Given the description of an element on the screen output the (x, y) to click on. 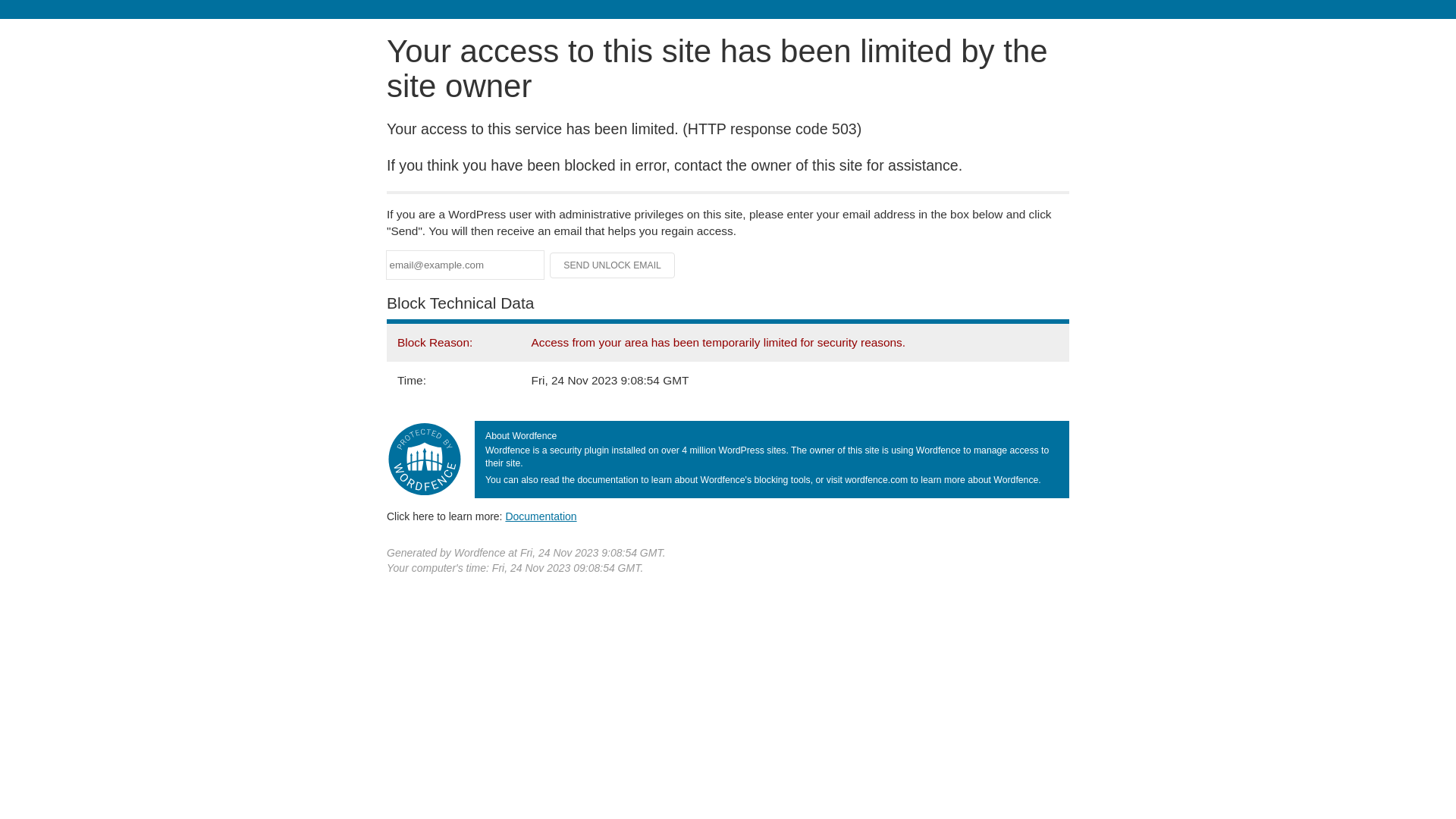
Documentation Element type: text (540, 516)
Send Unlock Email Element type: text (612, 265)
